Given the description of an element on the screen output the (x, y) to click on. 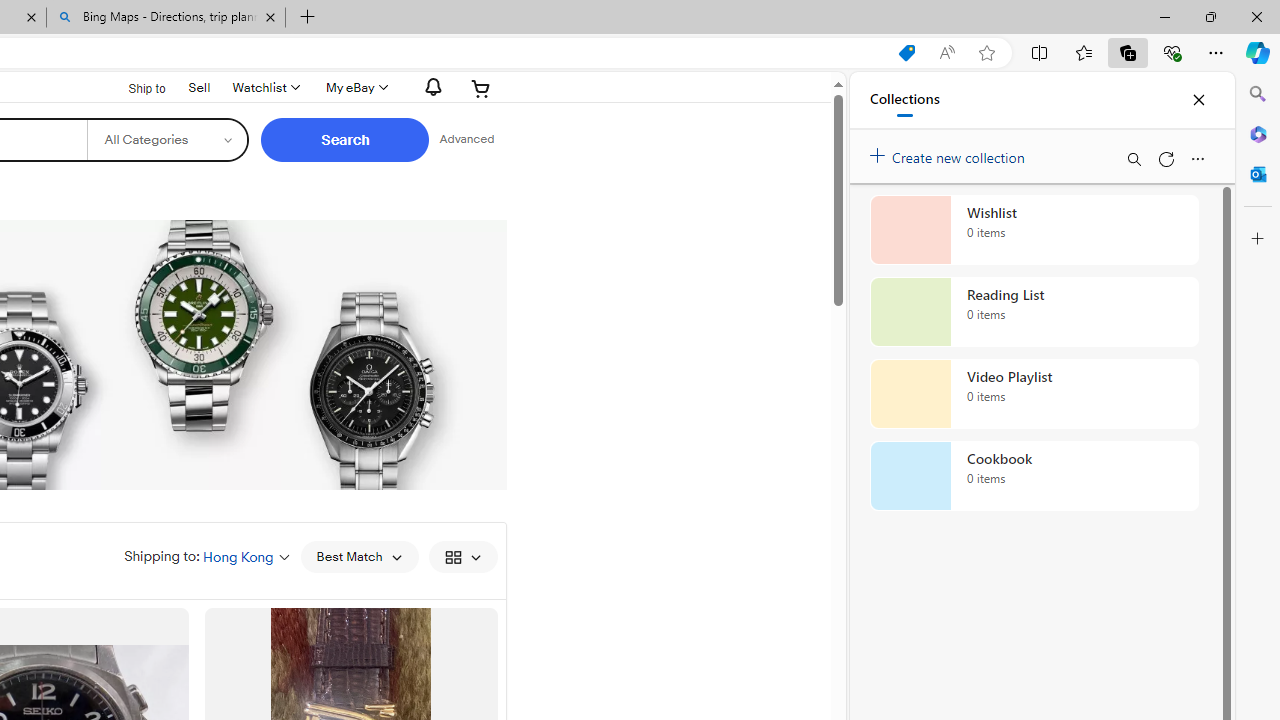
View: Gallery View (462, 556)
My eBay (354, 88)
Wishlist collection, 0 items (1034, 229)
My eBayExpand My eBay (354, 88)
Video Playlist collection, 0 items (1034, 394)
Create new collection (950, 153)
AutomationID: gh-eb-Alerts (430, 87)
